Given the description of an element on the screen output the (x, y) to click on. 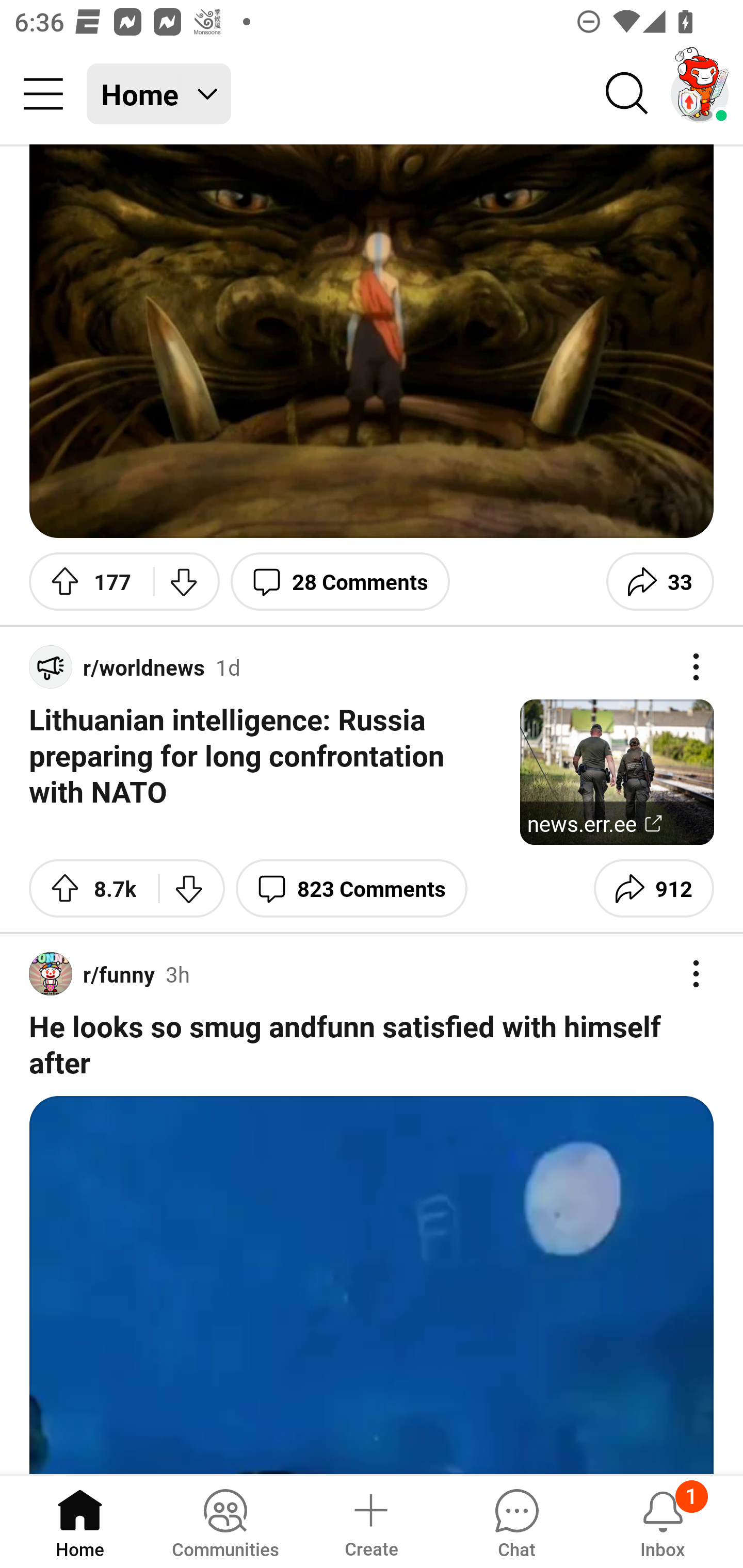
Community menu (43, 93)
Home Home feed (158, 93)
Search (626, 93)
TestAppium002 account (699, 93)
Home (80, 1520)
Communities (225, 1520)
Create a post Create (370, 1520)
Chat (516, 1520)
Inbox, has 1 notification 1 Inbox (662, 1520)
